Given the description of an element on the screen output the (x, y) to click on. 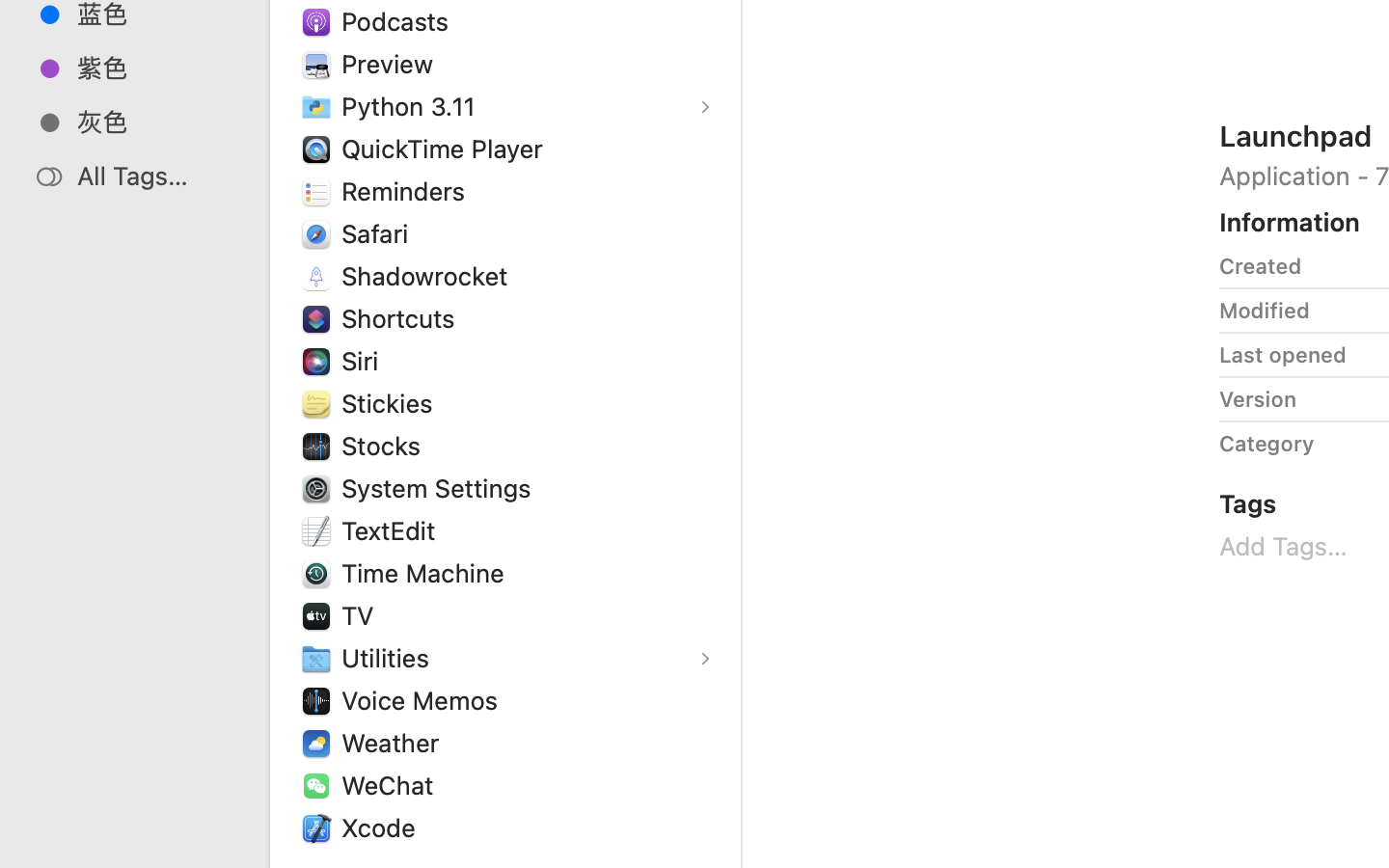
0 Element type: AXRadioButton (23, 846)
Weather Element type: AXTextField (394, 742)
Created Element type: AXStaticText (1260, 265)
Version Element type: AXStaticText (1257, 398)
Stickies Element type: AXTextField (391, 402)
